Given the description of an element on the screen output the (x, y) to click on. 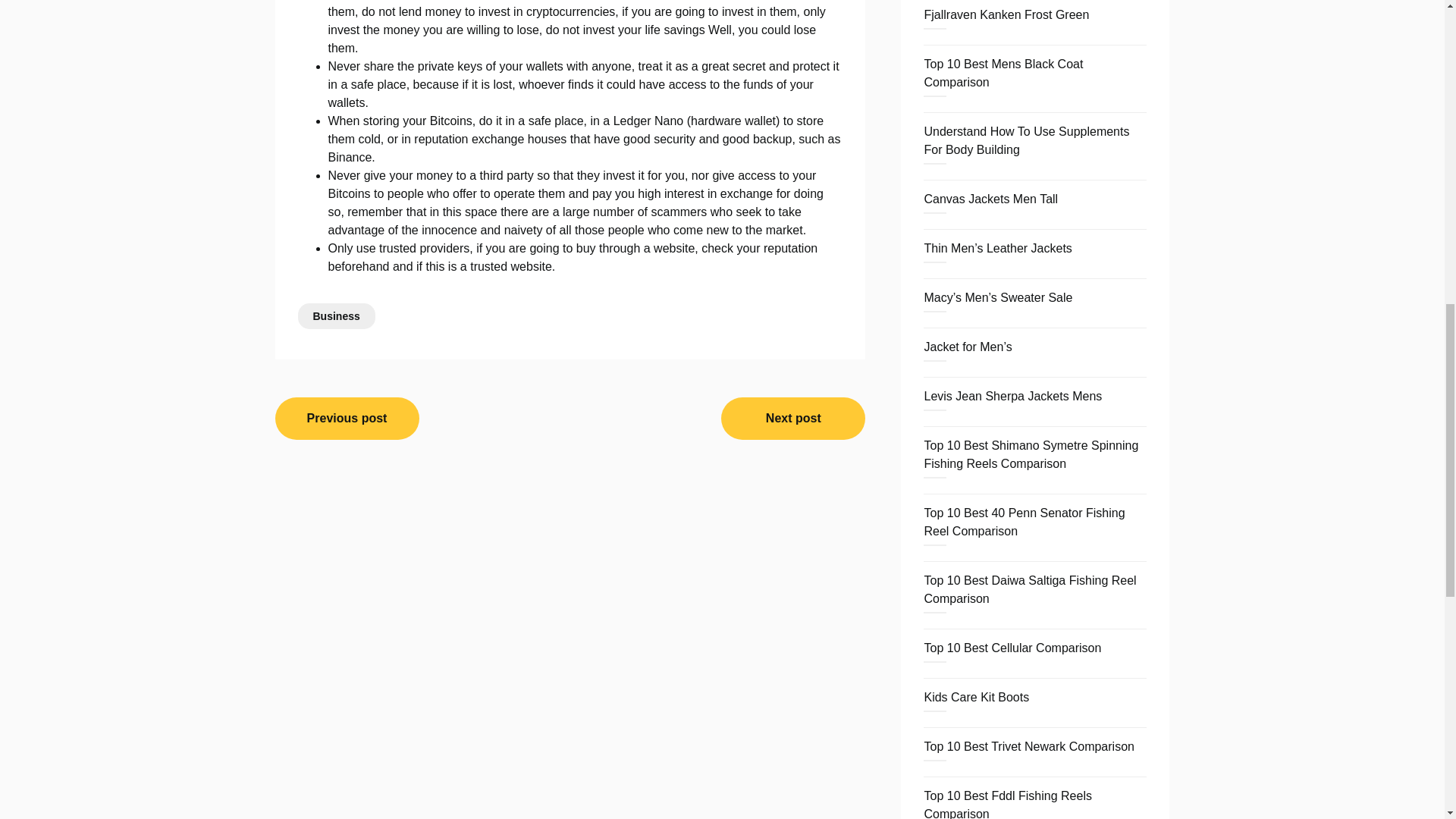
Top 10 Best Daiwa Saltiga Fishing Reel Comparison (1029, 589)
Top 10 Best Trivet Newark Comparison (1028, 746)
Previous post (347, 418)
Levis Jean Sherpa Jackets Mens (1012, 395)
Fjallraven Kanken Frost Green (1006, 14)
Canvas Jackets Men Tall (990, 198)
Top 10 Best 40 Penn Senator Fishing Reel Comparison (1023, 521)
Understand How To Use Supplements For Body Building (1026, 140)
Business (335, 316)
Next post (792, 418)
